Given the description of an element on the screen output the (x, y) to click on. 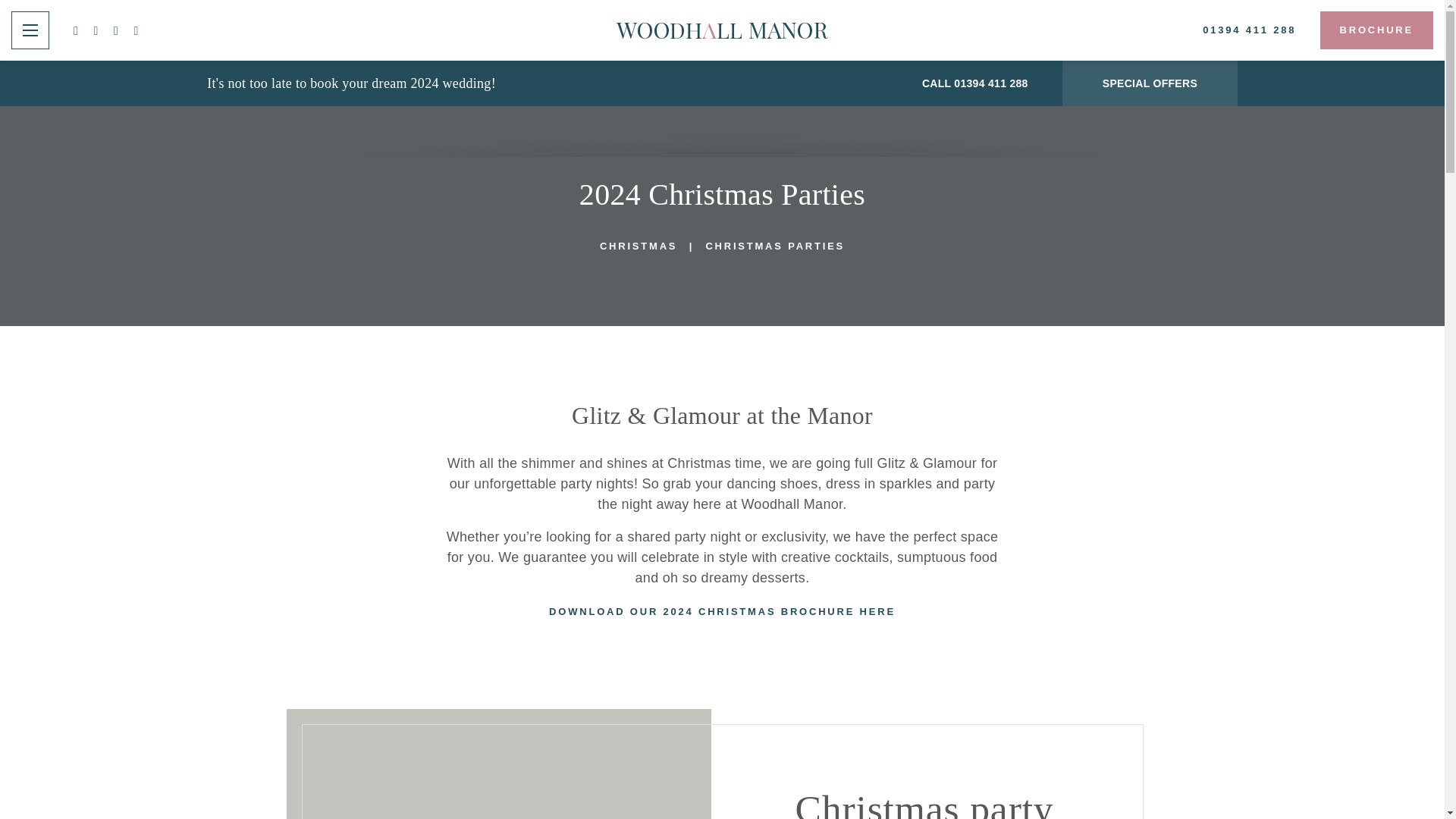
Page 3 (721, 536)
01394 411 288 (1249, 30)
Menu (30, 30)
Page 3 (721, 484)
BROCHURE (1376, 30)
Christmas (638, 245)
Christmas Parties (774, 245)
